Given the description of an element on the screen output the (x, y) to click on. 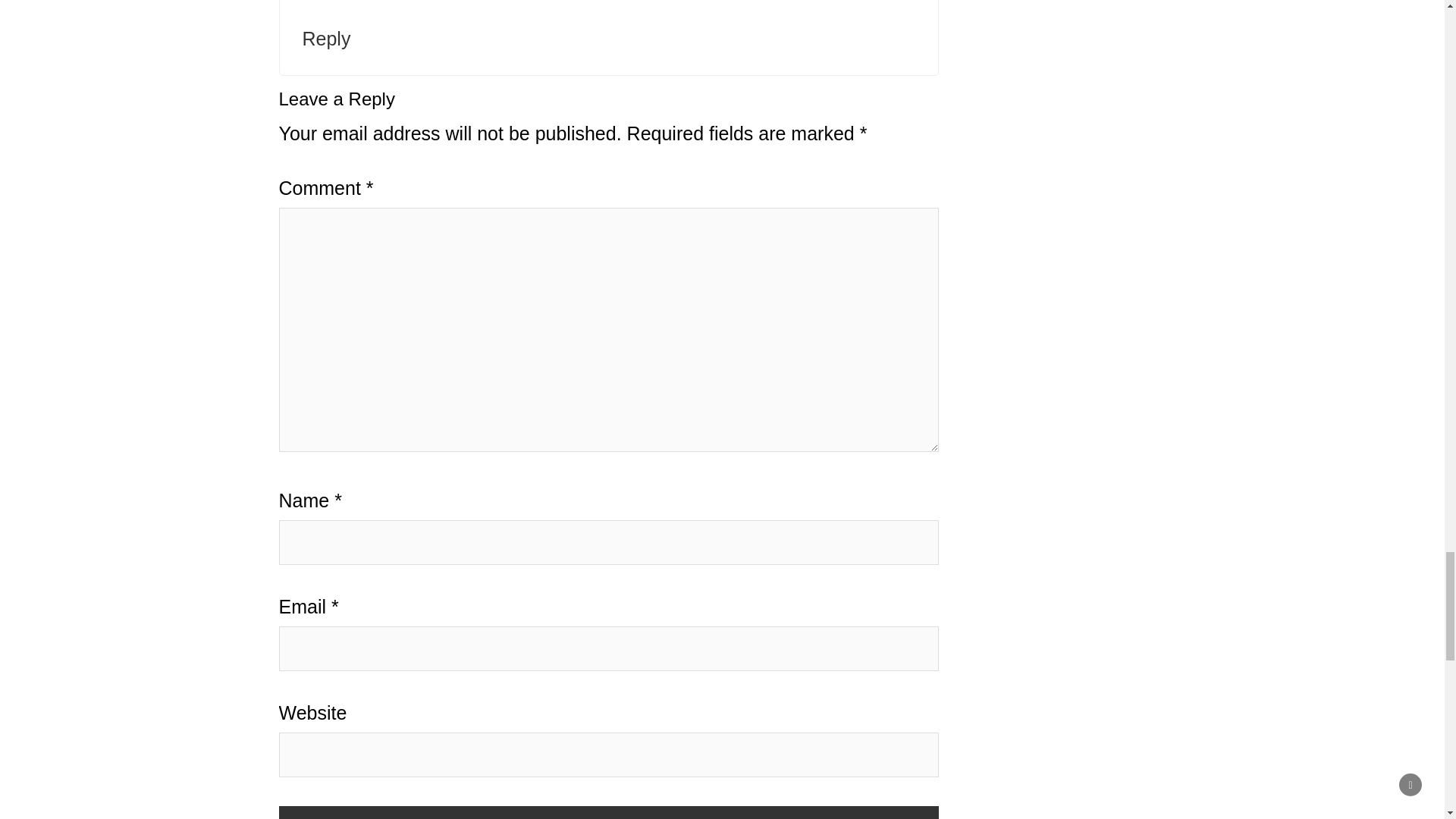
Post Comment (609, 812)
